Given the description of an element on the screen output the (x, y) to click on. 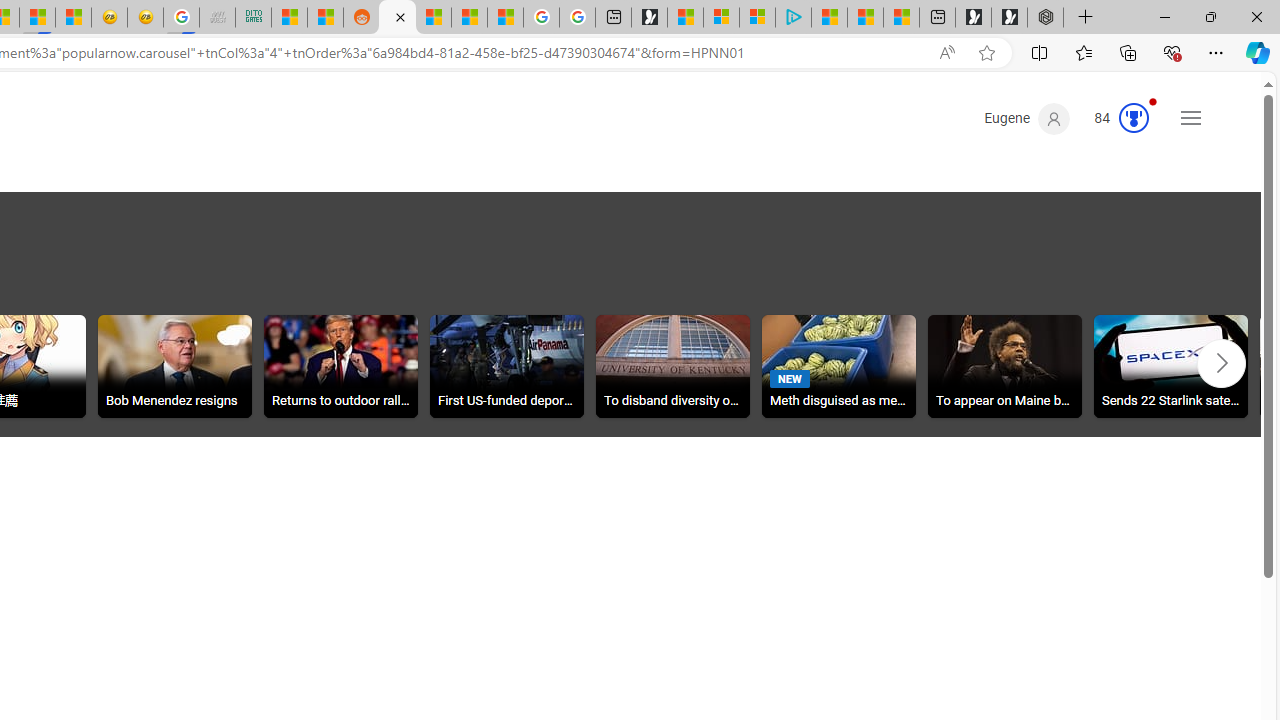
Returns to outdoor rallying (340, 369)
AutomationID: tob_right_arrow (1221, 363)
To disband diversity office (673, 365)
To appear on Maine ballot (1004, 369)
